Given the description of an element on the screen output the (x, y) to click on. 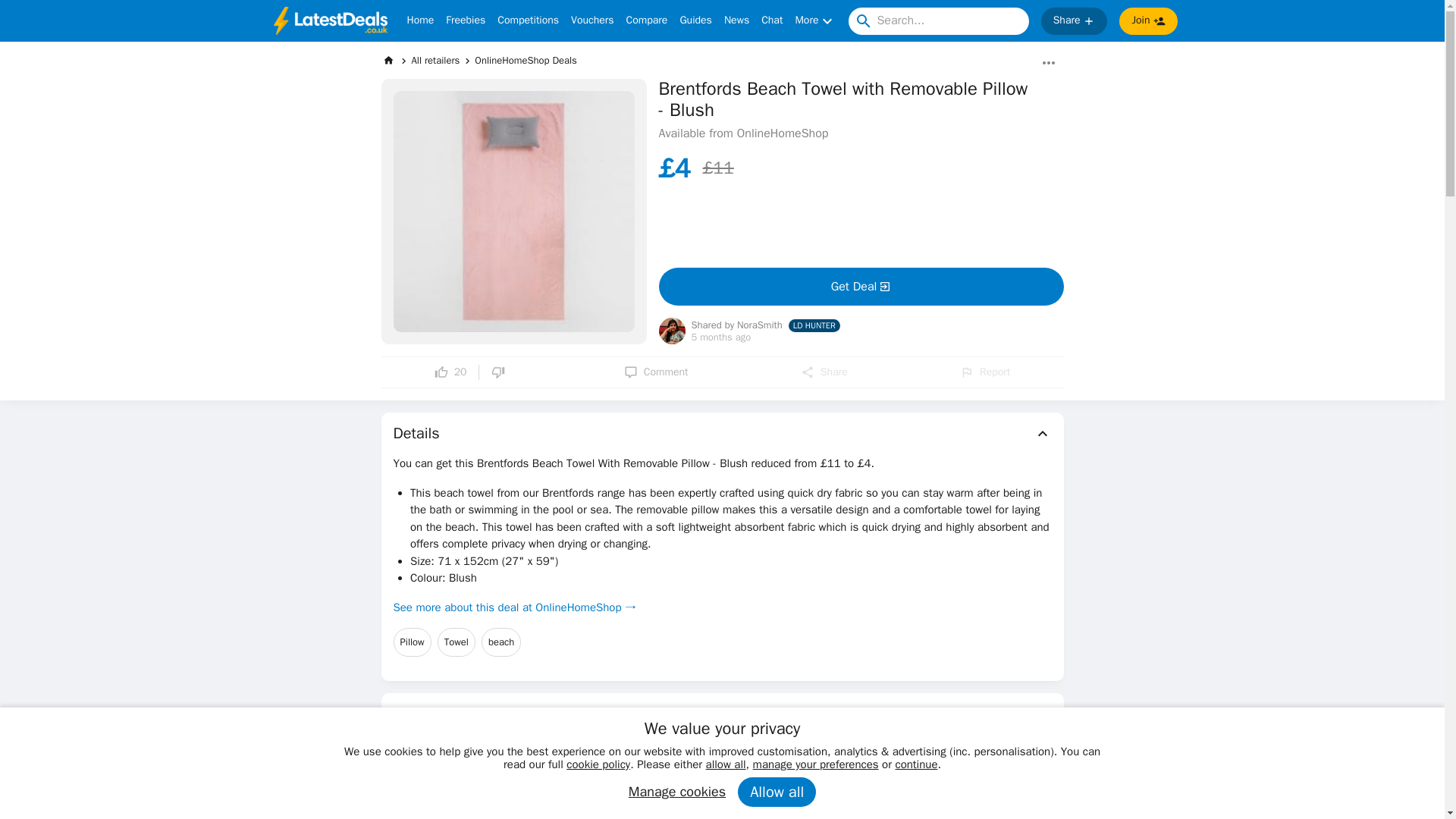
Guides (695, 21)
News (736, 21)
Comment (656, 371)
Compare (647, 21)
Report (984, 371)
Pillow (411, 642)
Competitions (528, 21)
Top Offers (722, 714)
All retailers (435, 60)
Share (823, 371)
Vouchers (591, 21)
20 (450, 372)
Get Deal (860, 286)
Freebies (464, 21)
Towel (457, 642)
